Given the description of an element on the screen output the (x, y) to click on. 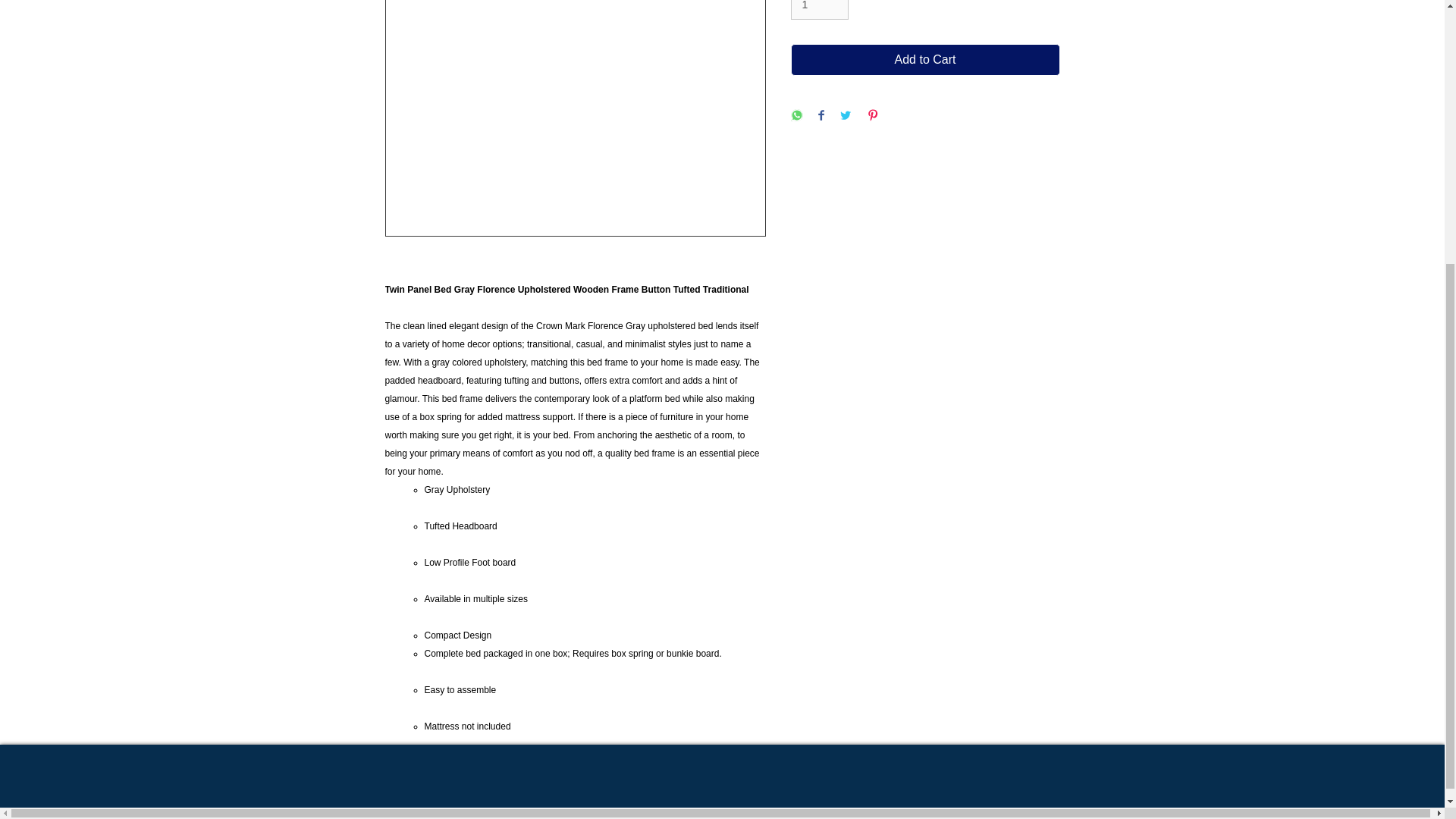
Add to Cart (924, 60)
1 (818, 10)
